Given the description of an element on the screen output the (x, y) to click on. 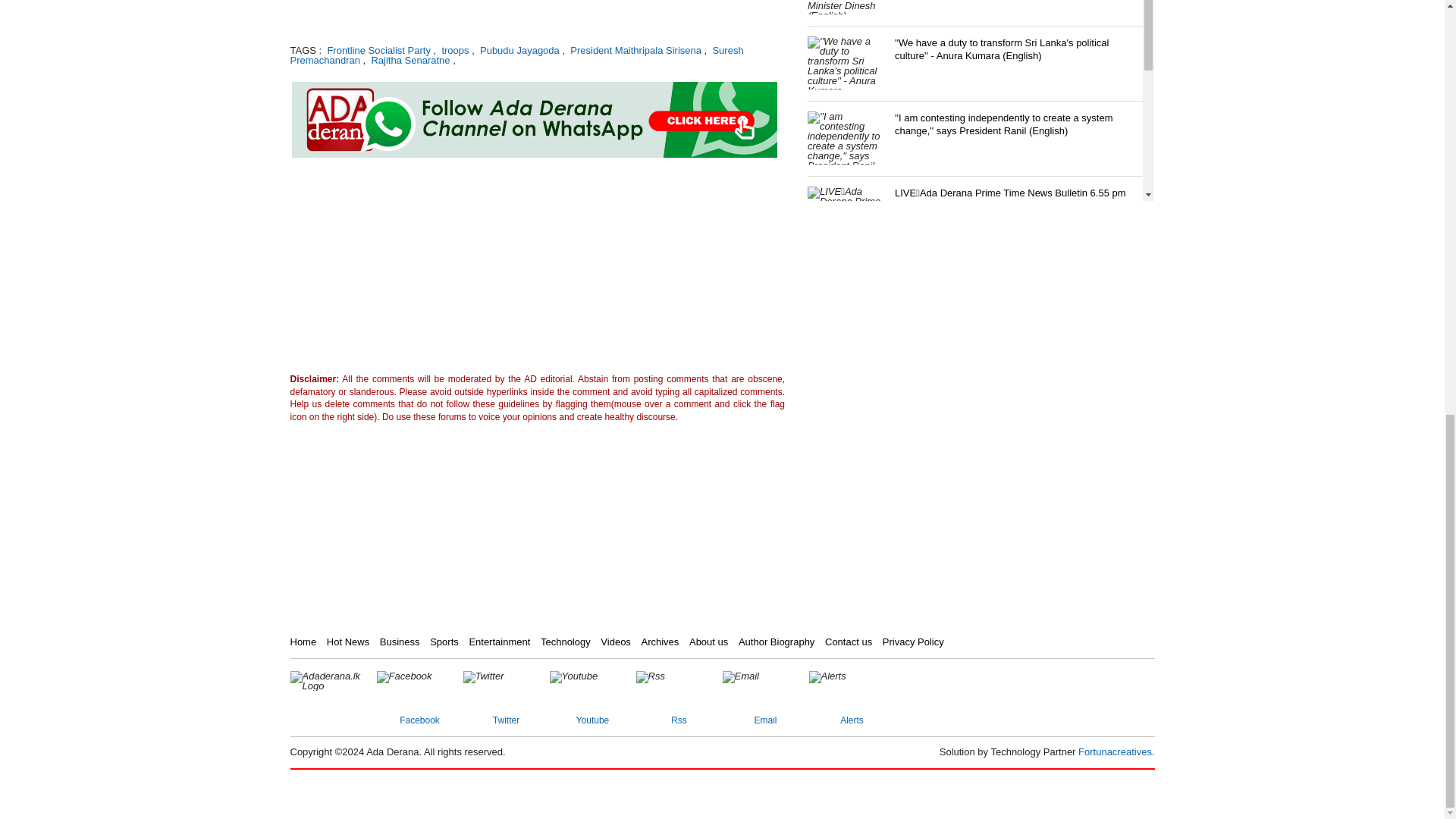
 Rajitha Senaratne (408, 60)
 troops (453, 50)
 President Maithripala Sirisena (634, 50)
 Suresh Premachandran (515, 55)
 Pubudu Jayagoda (518, 50)
 Frontline Socialist Party (377, 50)
